Given the description of an element on the screen output the (x, y) to click on. 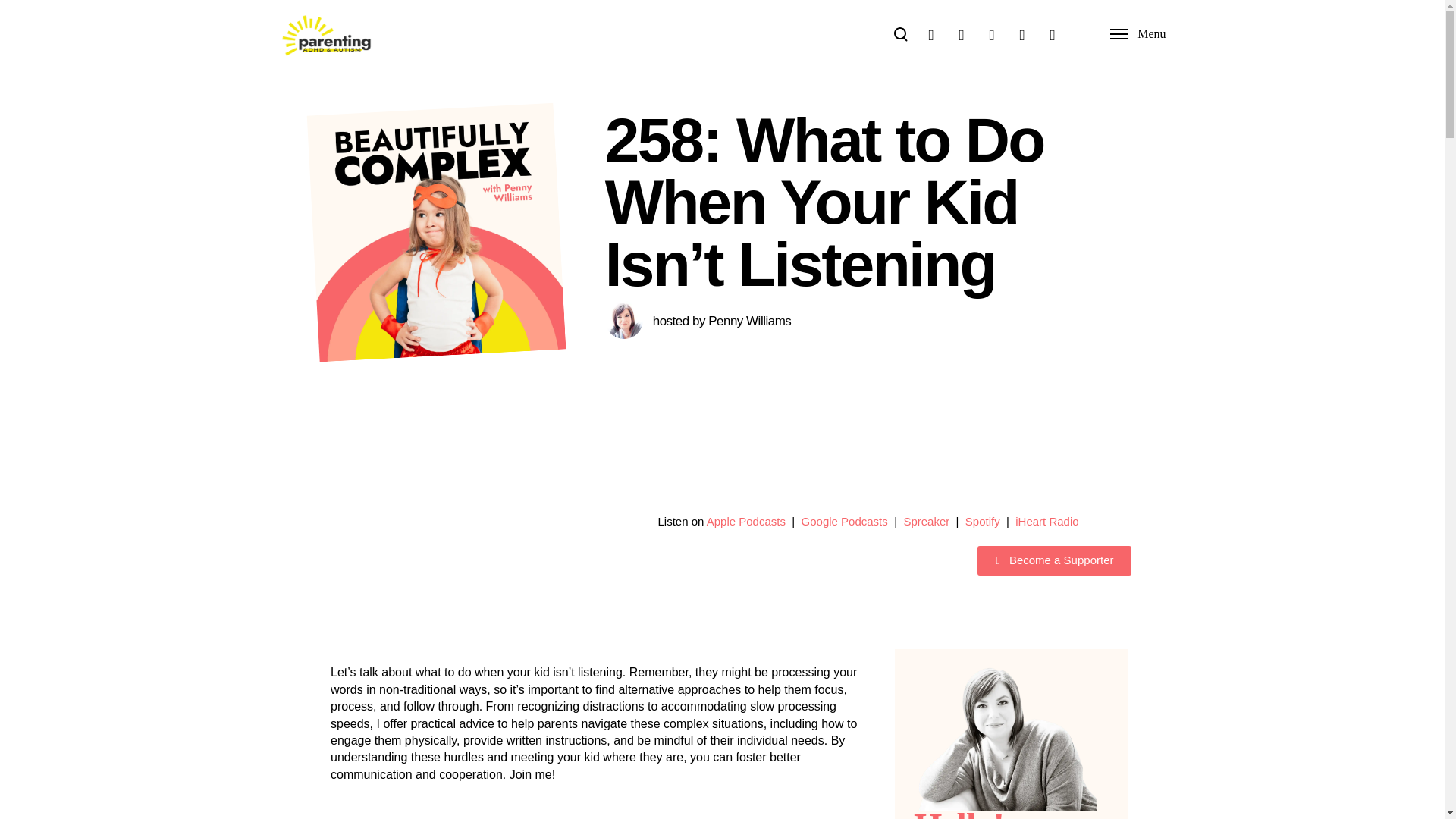
Menu (1137, 33)
